Given the description of an element on the screen output the (x, y) to click on. 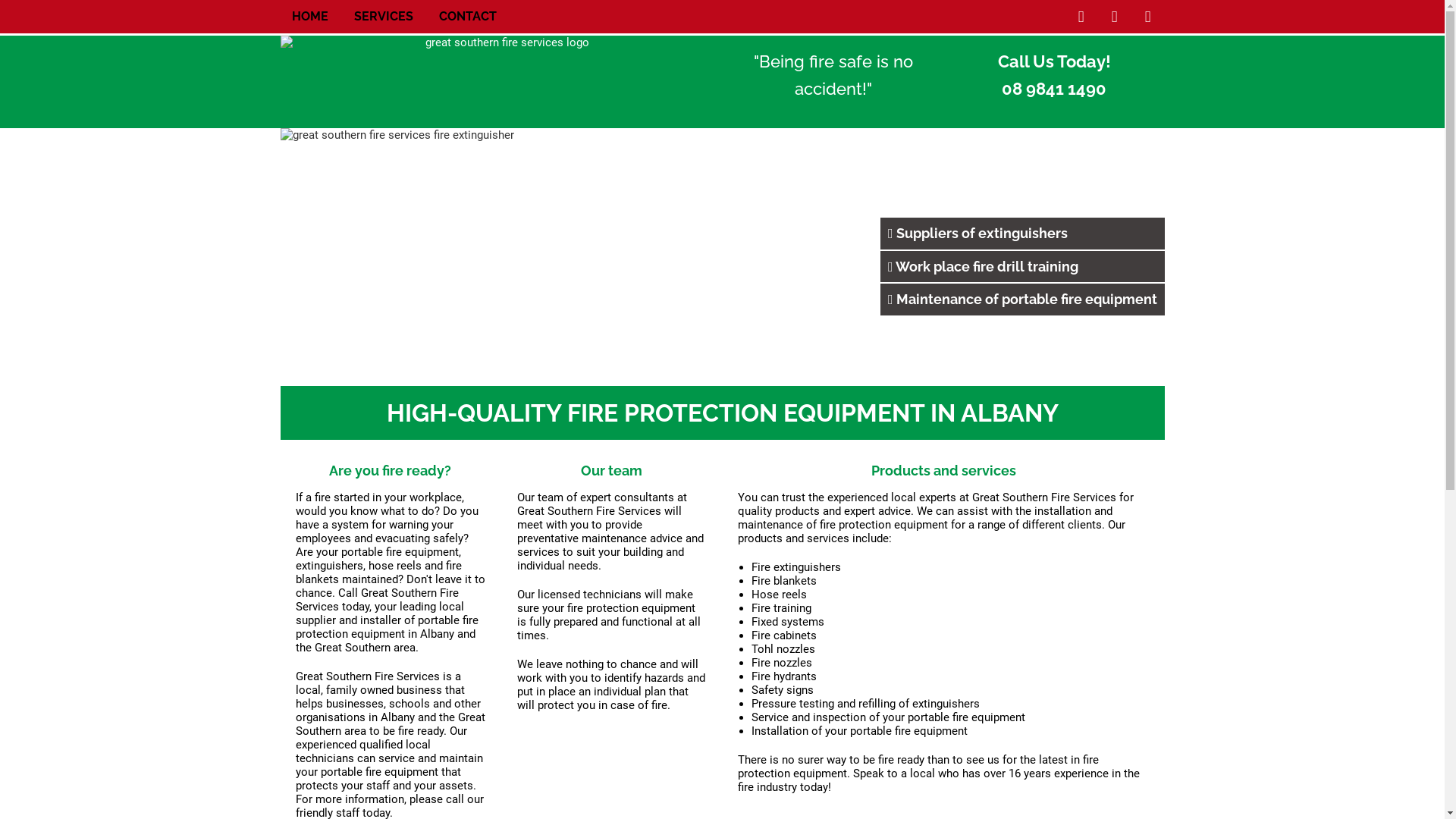
HOME Element type: text (309, 16)
08 9841 1490 Element type: text (1053, 88)
great southern fire services fire extinguisher Element type: hover (722, 256)
SERVICES Element type: text (382, 16)
CONTACT Element type: text (466, 16)
great southern fire services logo Element type: hover (501, 78)
